Given the description of an element on the screen output the (x, y) to click on. 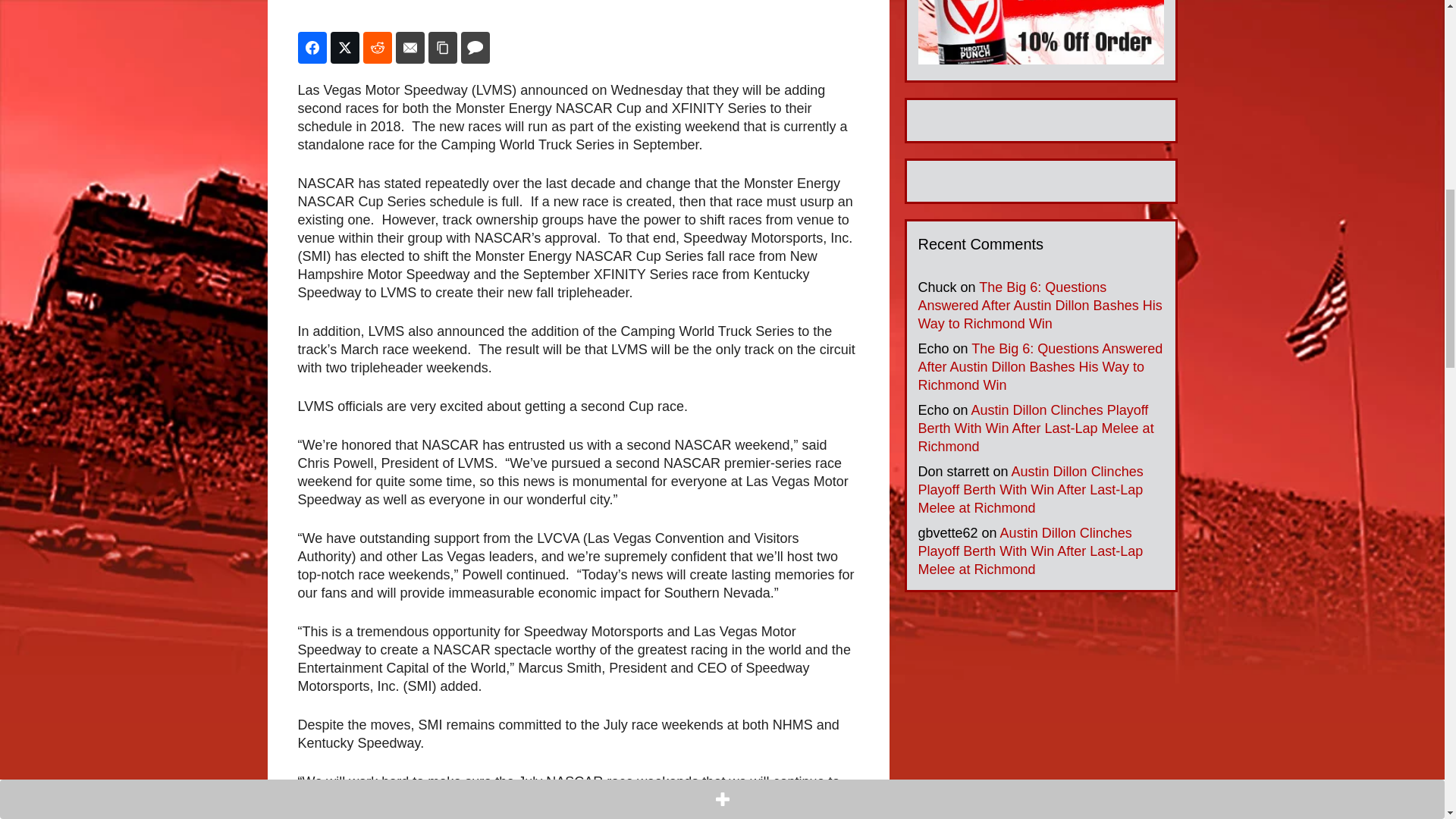
Share on Facebook (311, 47)
Share on Reddit (376, 47)
Share on Email (410, 47)
Share on Twitter (344, 47)
Share on Copy Link (442, 47)
Share on Comments (475, 47)
